Given the description of an element on the screen output the (x, y) to click on. 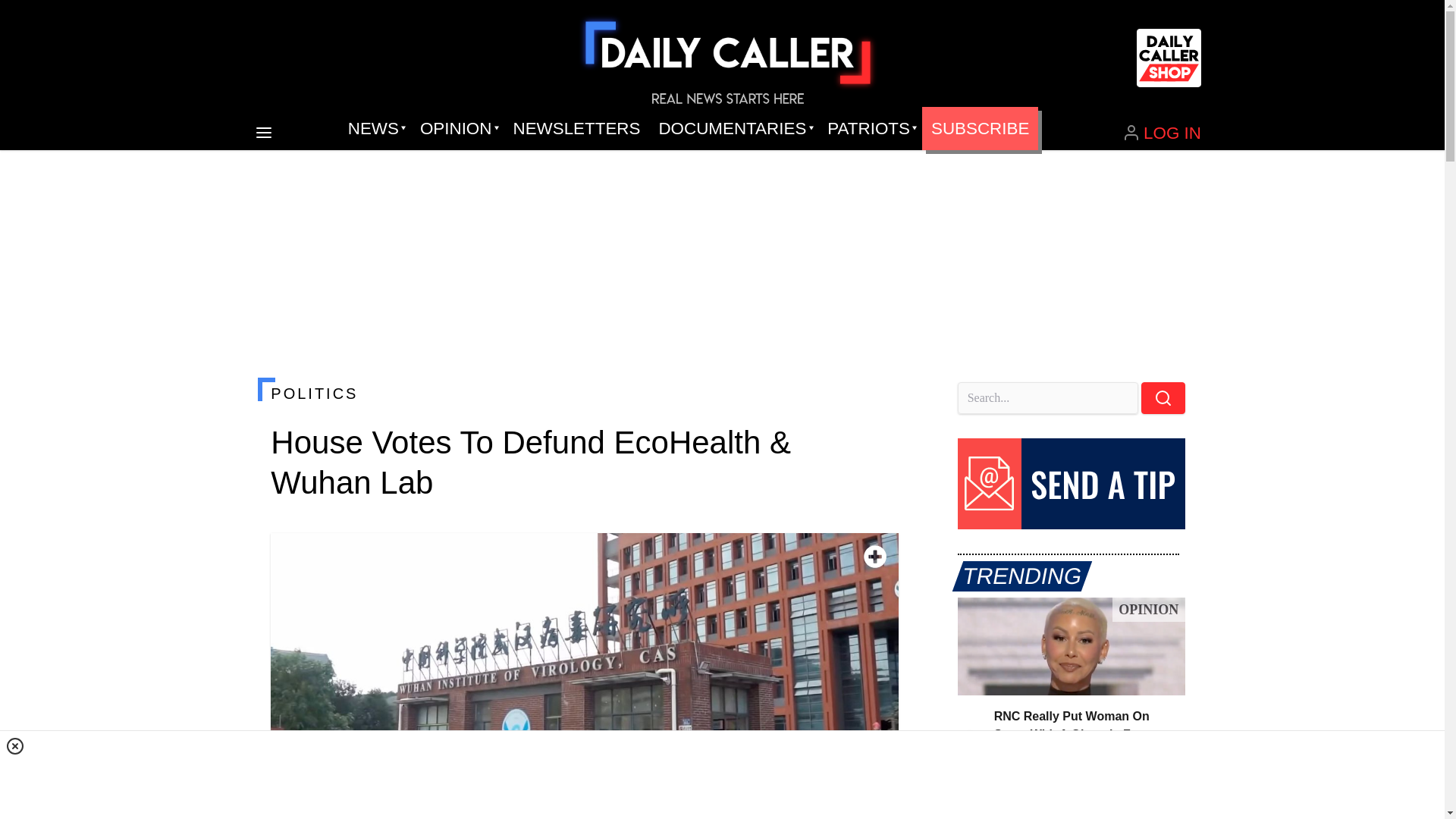
NEWS (374, 128)
DOCUMENTARIES (733, 128)
POLITICS (584, 393)
3rd party ad content (721, 778)
3rd party ad content (727, 202)
OPINION (456, 128)
RNC Really Put Woman On Stage With A Gigantic Face Tattoo (1071, 646)
Close window (14, 746)
NEWSLETTERS (576, 128)
SUBSCRIBE (979, 128)
PATRIOTS (869, 128)
Toggle fullscreen (874, 556)
